Given the description of an element on the screen output the (x, y) to click on. 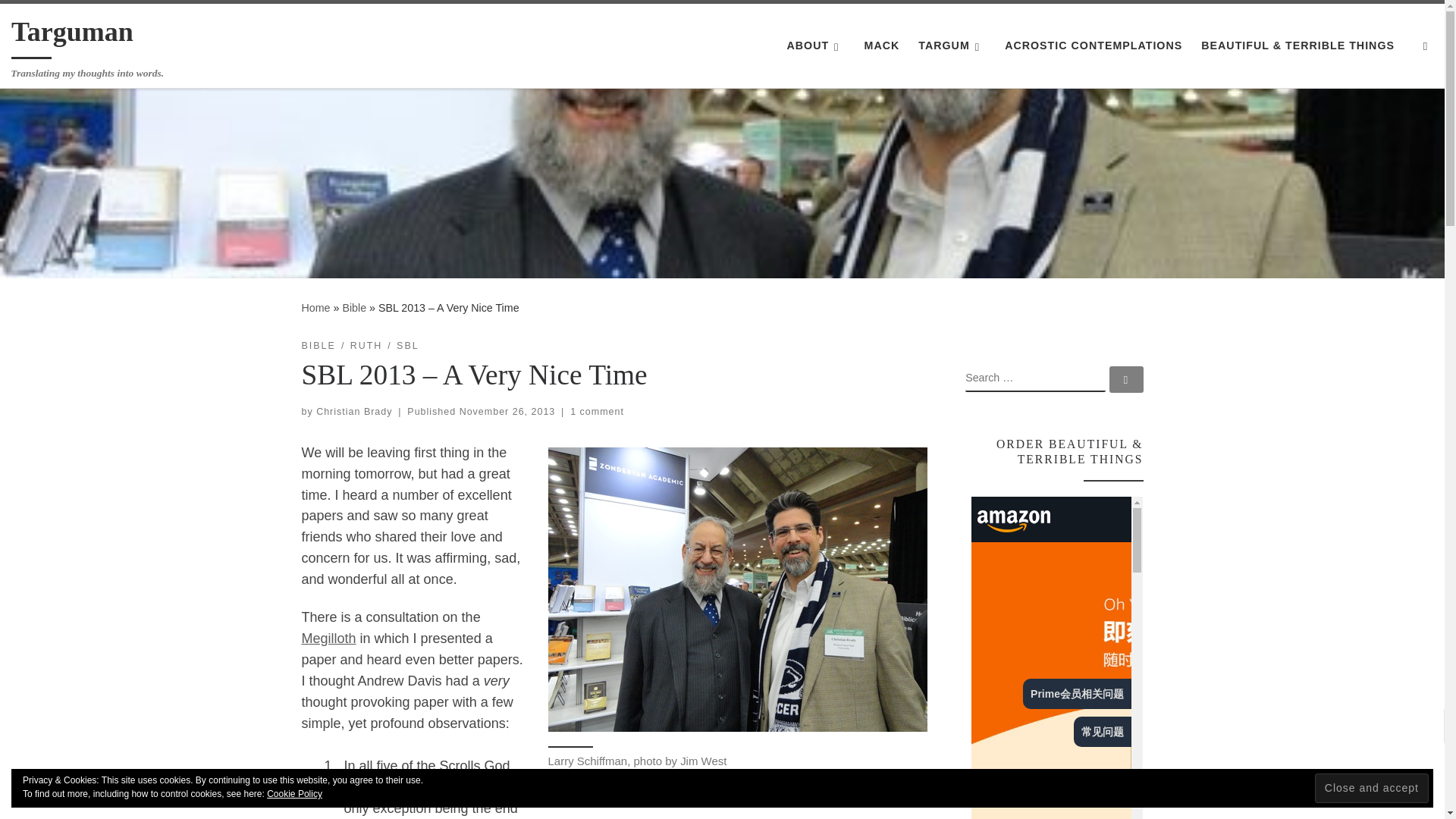
View all posts in Bible (318, 345)
Skip to content (60, 20)
Larry Schiffman  (736, 589)
Close and accept (1371, 788)
ABOUT (815, 45)
Bible (354, 307)
12:11 am (508, 411)
View all posts in SBL (407, 345)
Targuman (72, 34)
View all posts in Ruth (366, 345)
Targuman (315, 307)
View all posts by Christian Brady (353, 411)
TARGUM (952, 45)
MACK (881, 45)
Megilloth sessions (328, 638)
